Given the description of an element on the screen output the (x, y) to click on. 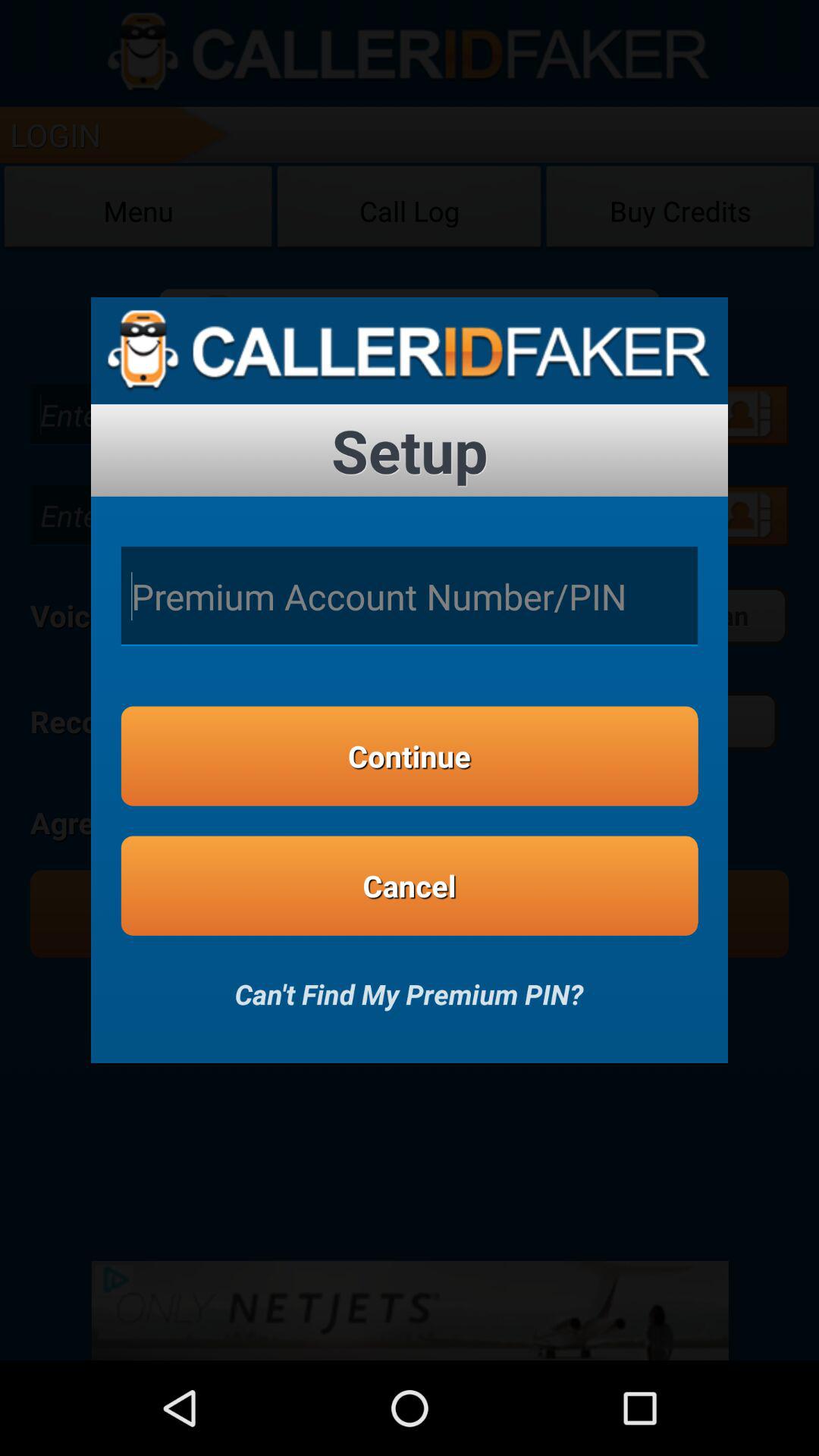
flip until the setup (409, 450)
